Given the description of an element on the screen output the (x, y) to click on. 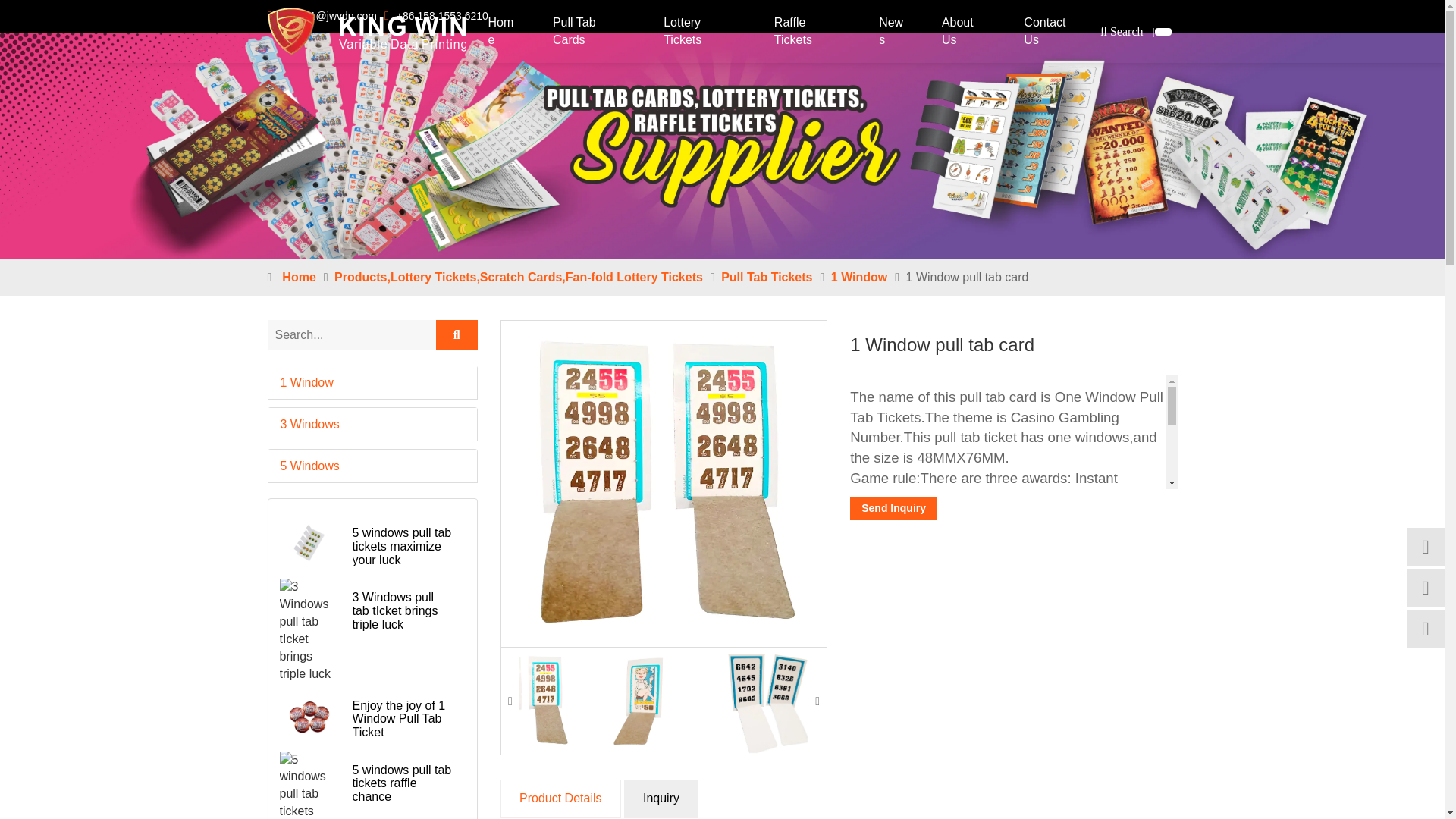
Raffle Tickets (809, 31)
Home (504, 31)
5 windows pull tab tickets maximize your luck (309, 544)
About Us (966, 31)
News (893, 31)
Pull Tab Cards (591, 31)
5 windows pull tab tickets raffle chance (309, 785)
Lottery Tickets (702, 31)
Contact Us (1053, 31)
Enjoy the joy of 1 Window Pull Tab Ticket (309, 717)
